Given the description of an element on the screen output the (x, y) to click on. 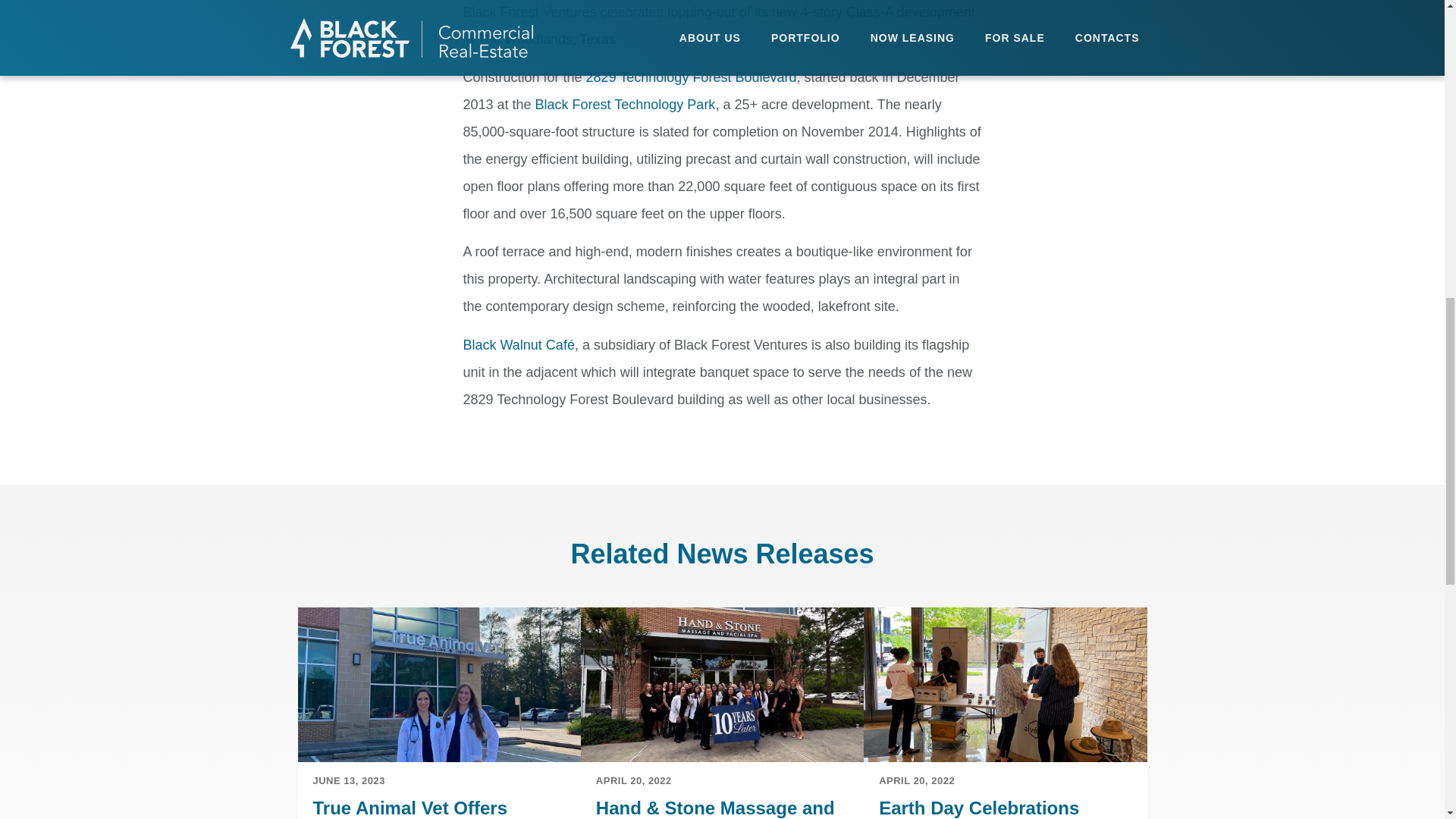
Black Forest Technology Park (625, 104)
Hospitality (518, 344)
2829 Technology Forest Boulevard (691, 77)
Black Forest Technology Park (625, 104)
TrueVet (438, 684)
2829 Technology Forest Boulevard (691, 77)
